Given the description of an element on the screen output the (x, y) to click on. 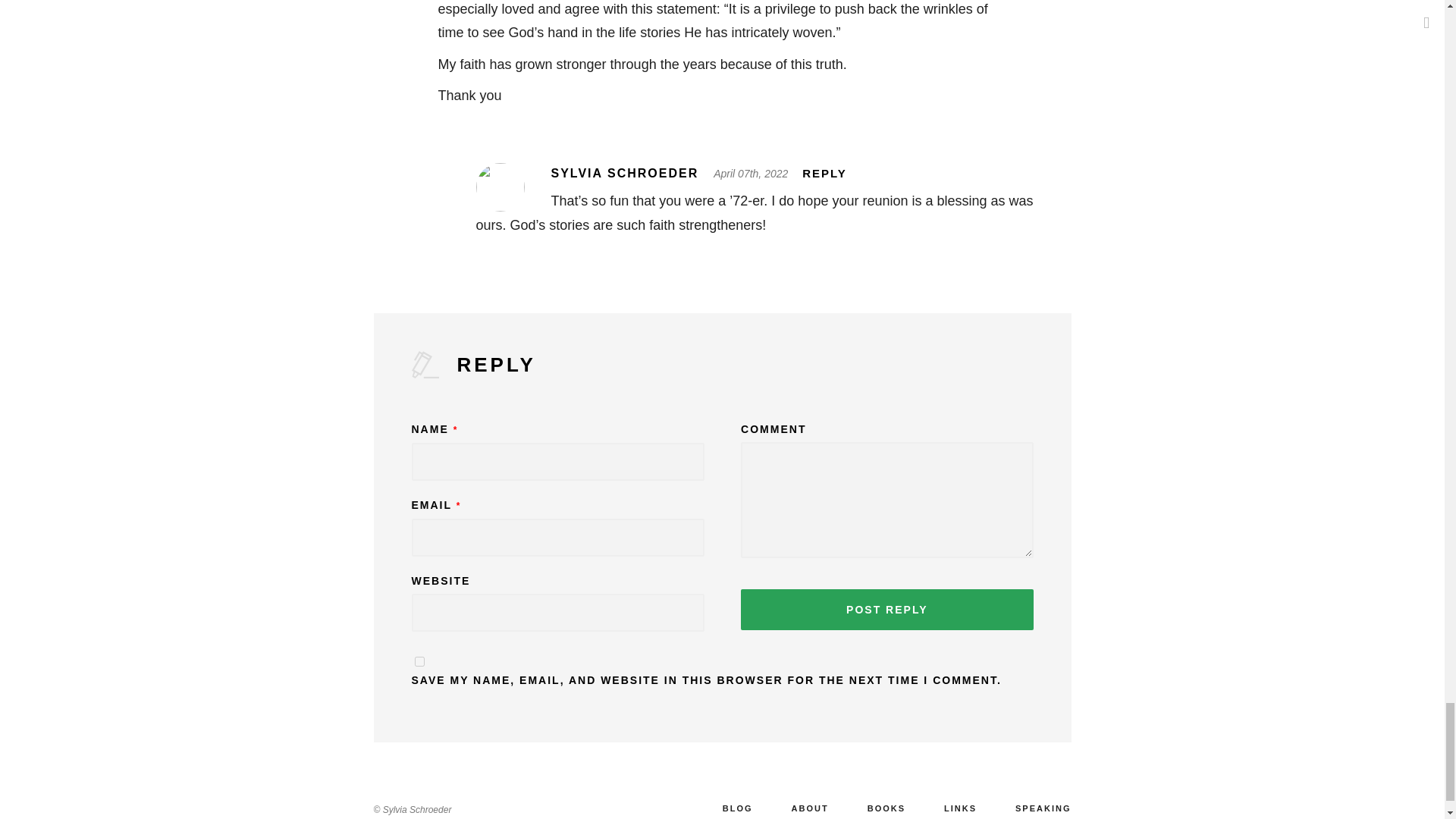
Post Reply (886, 608)
yes (418, 661)
